Given the description of an element on the screen output the (x, y) to click on. 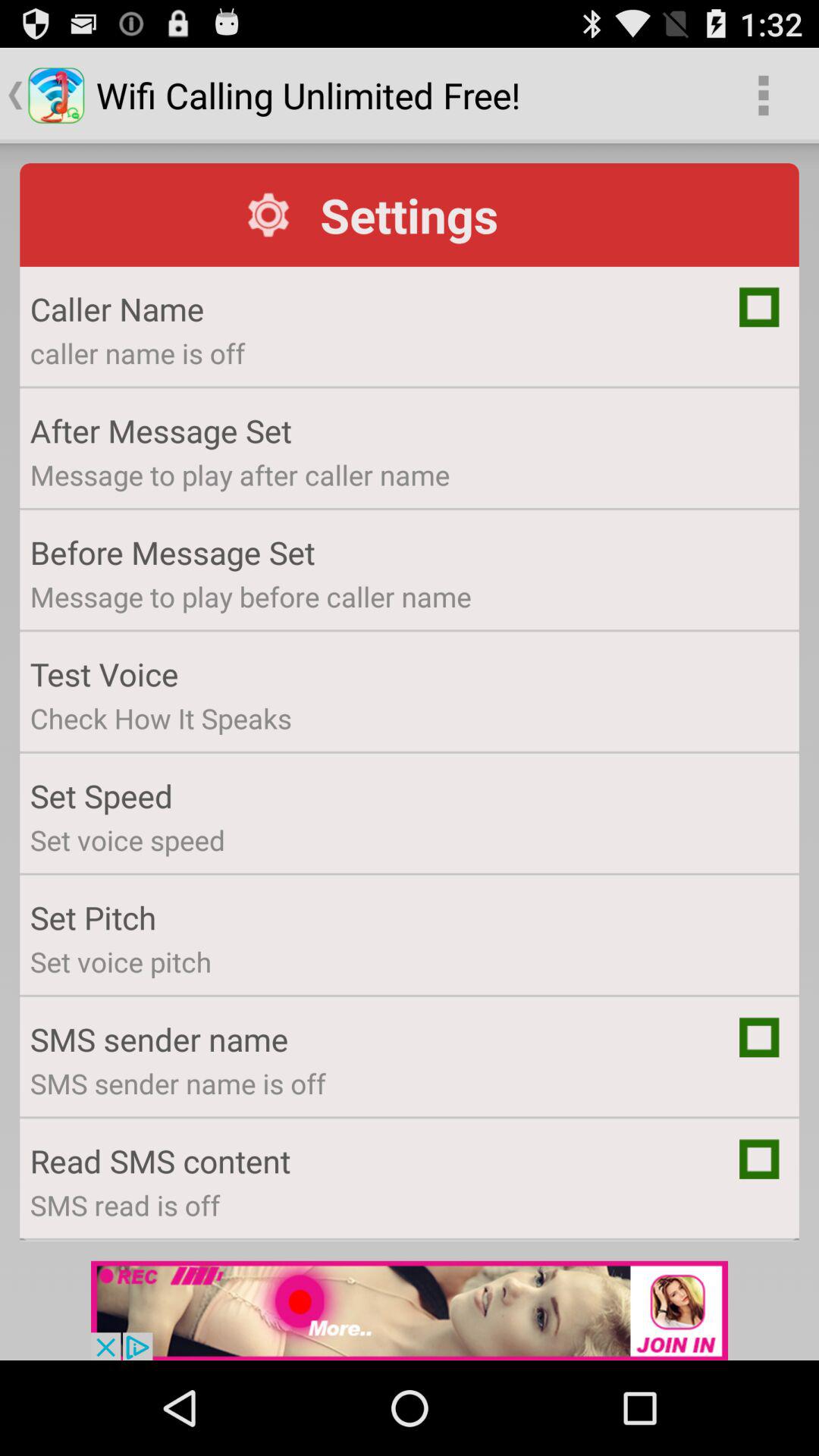
toggle display caller name (759, 307)
